Given the description of an element on the screen output the (x, y) to click on. 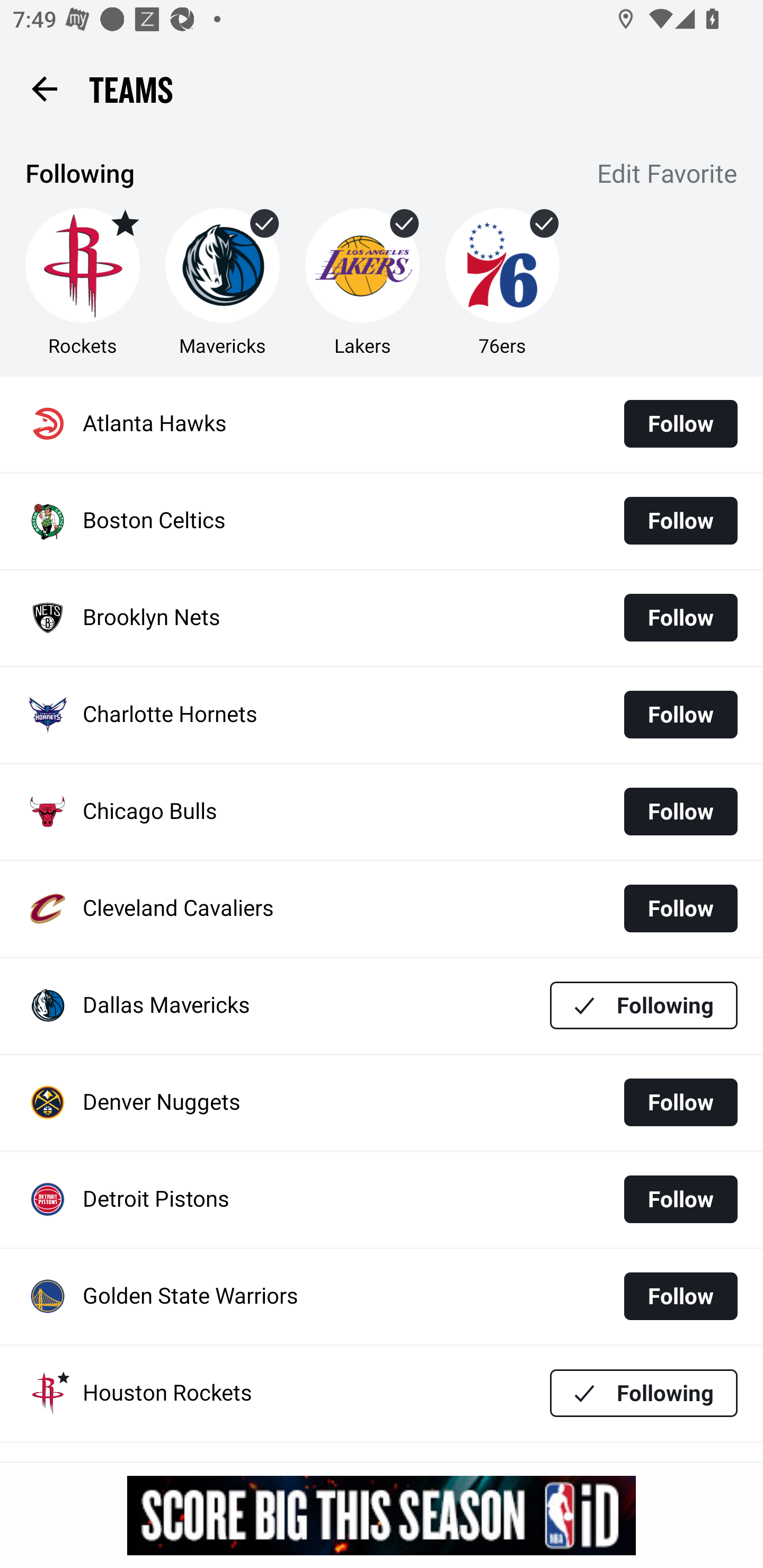
Back button (44, 88)
Edit Favorite (667, 175)
Atlanta Hawks Follow (381, 423)
Follow (680, 423)
Boston Celtics Follow (381, 521)
Follow (680, 520)
Brooklyn Nets Follow (381, 618)
Follow (680, 617)
Charlotte Hornets Follow (381, 714)
Follow (680, 713)
Chicago Bulls Follow (381, 812)
Follow (680, 811)
Cleveland Cavaliers Follow (381, 908)
Follow (680, 908)
Dallas Mavericks Following (381, 1005)
Following (643, 1005)
Denver Nuggets Follow (381, 1102)
Follow (680, 1101)
Detroit Pistons Follow (381, 1200)
Follow (680, 1199)
Golden State Warriors Follow (381, 1296)
Follow (680, 1295)
Houston Rockets Following (381, 1392)
Following (643, 1392)
g5nqqygr7owph (381, 1515)
